Given the description of an element on the screen output the (x, y) to click on. 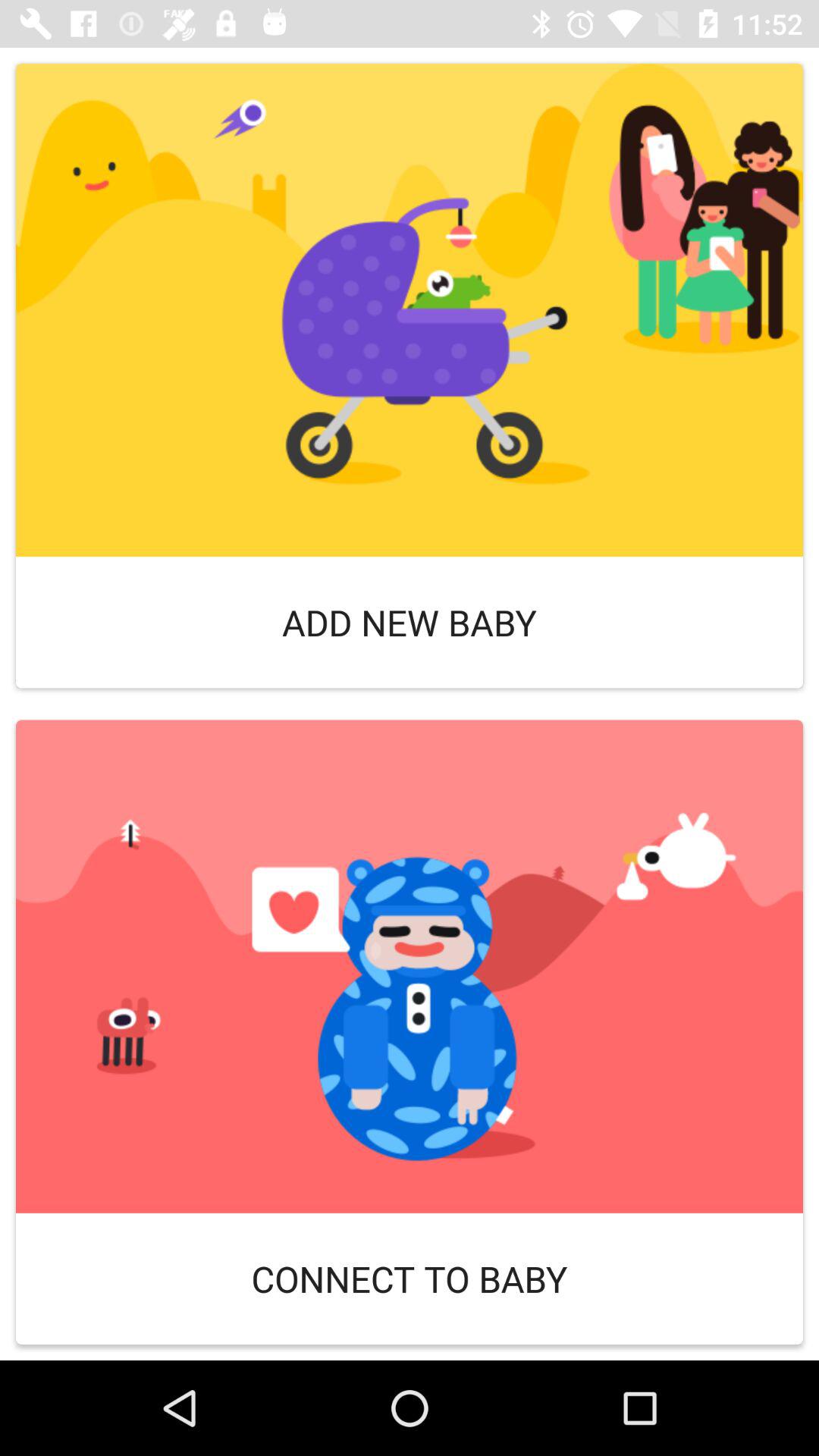
scroll until add new baby (409, 622)
